Given the description of an element on the screen output the (x, y) to click on. 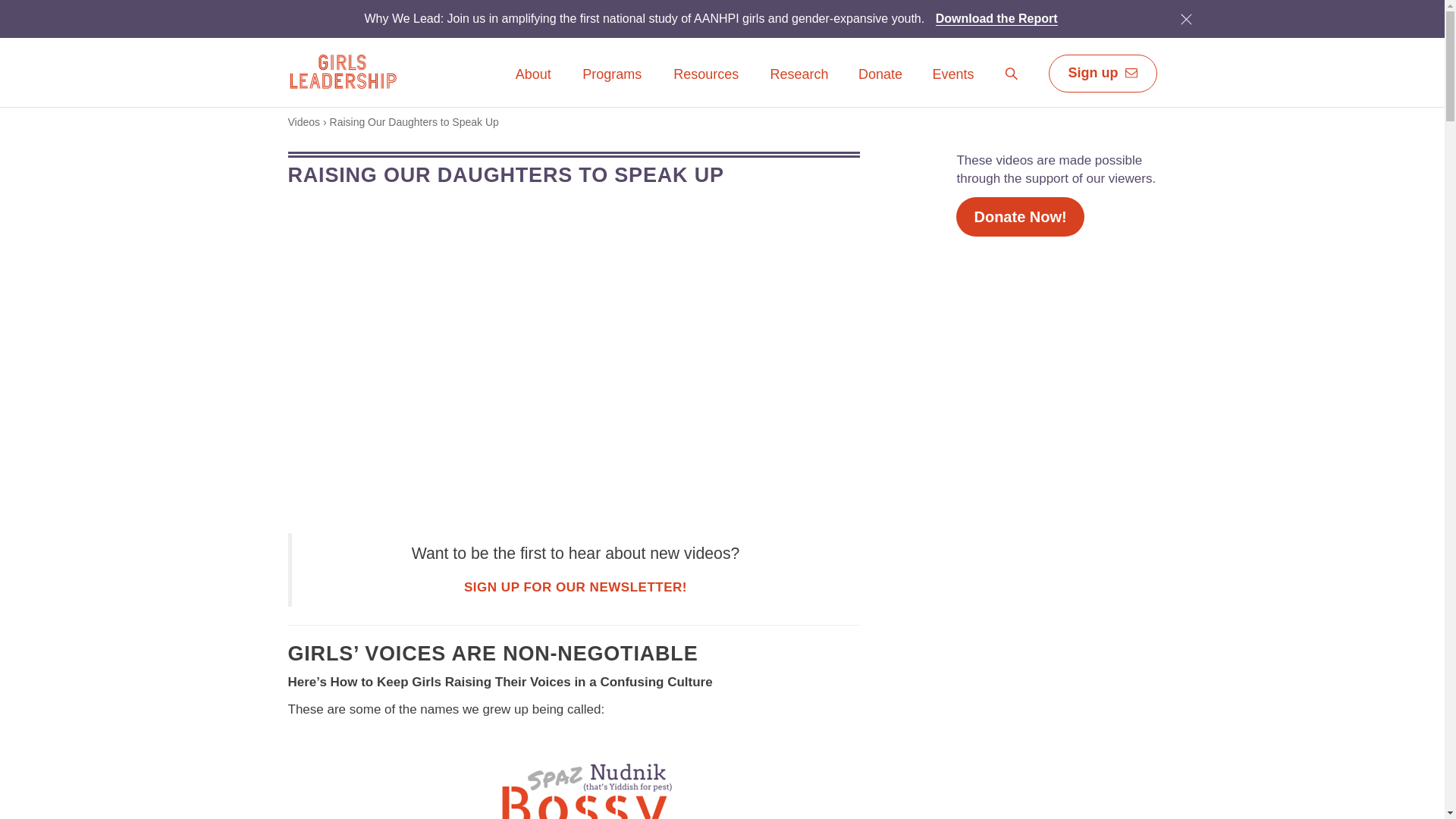
Events (952, 84)
Download the Report (1012, 77)
Search (997, 18)
Programs (1012, 74)
Events (611, 75)
Videos (952, 75)
SIGN UP FOR OUR NEWSLETTER! (304, 121)
Programs (575, 586)
Resources (611, 84)
Donate (706, 75)
About (879, 75)
A6F524C7-72F2-47B1-896C-2077AF8665D0 (533, 84)
Donate (1185, 18)
About (879, 84)
